Given the description of an element on the screen output the (x, y) to click on. 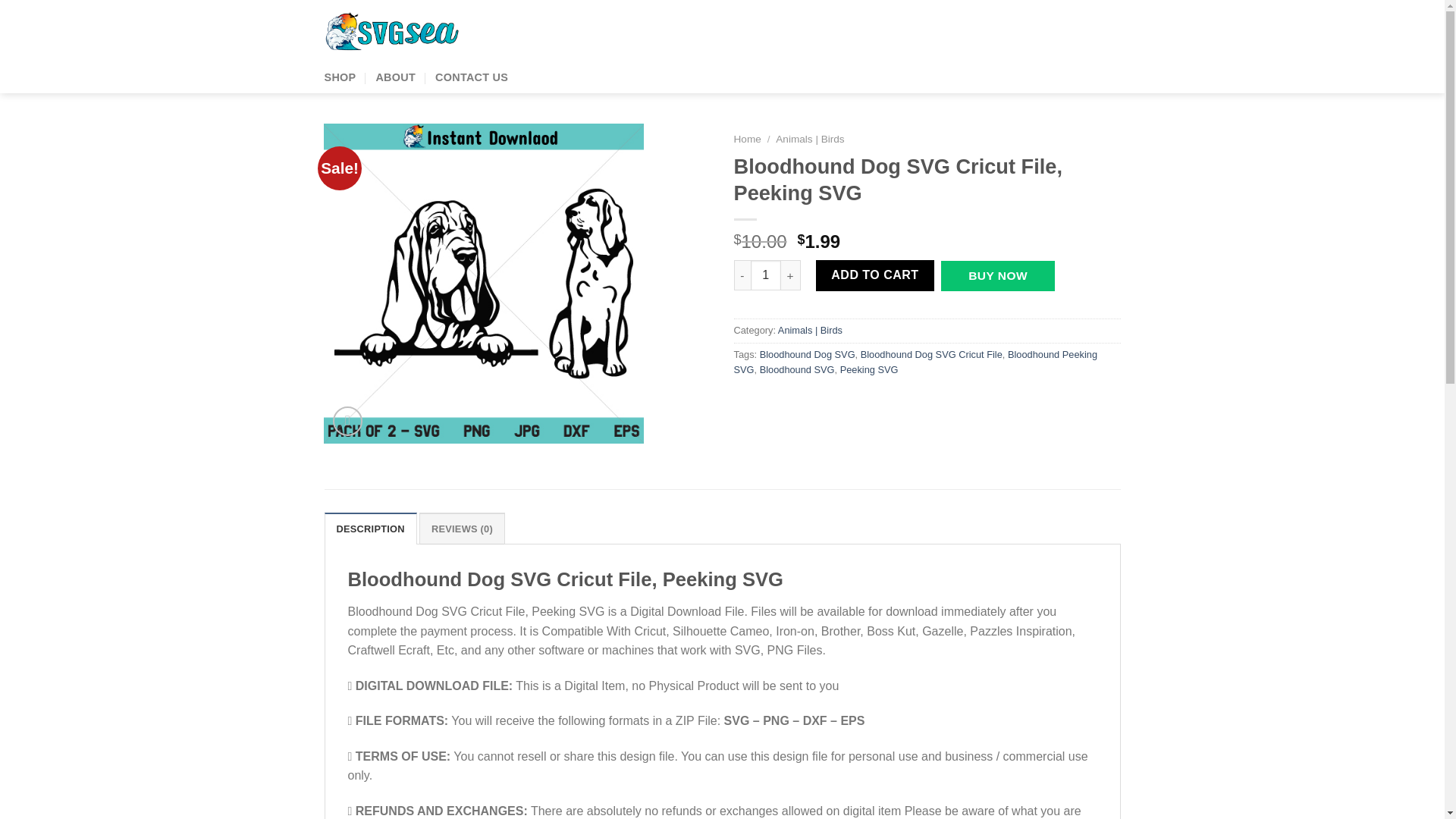
CONTACT US (471, 77)
Bloodhound SVG (797, 369)
Zoom (347, 420)
Home (747, 138)
1 (765, 275)
Bloodhound Peeking SVG (915, 361)
Cart (1074, 32)
Bloodhound Dog SVG (808, 354)
ABOUT (394, 77)
